Given the description of an element on the screen output the (x, y) to click on. 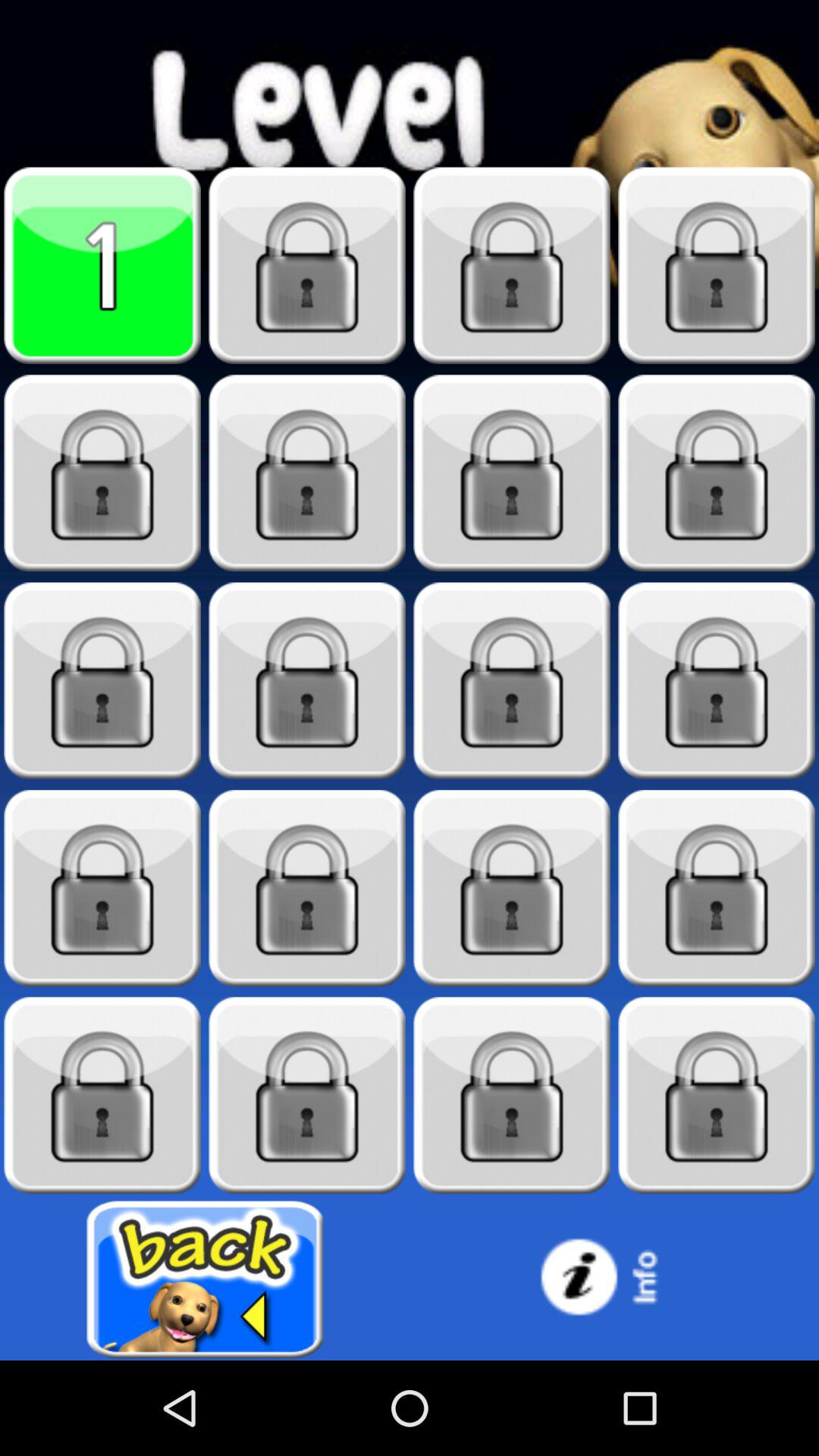
click for this level (306, 680)
